Given the description of an element on the screen output the (x, y) to click on. 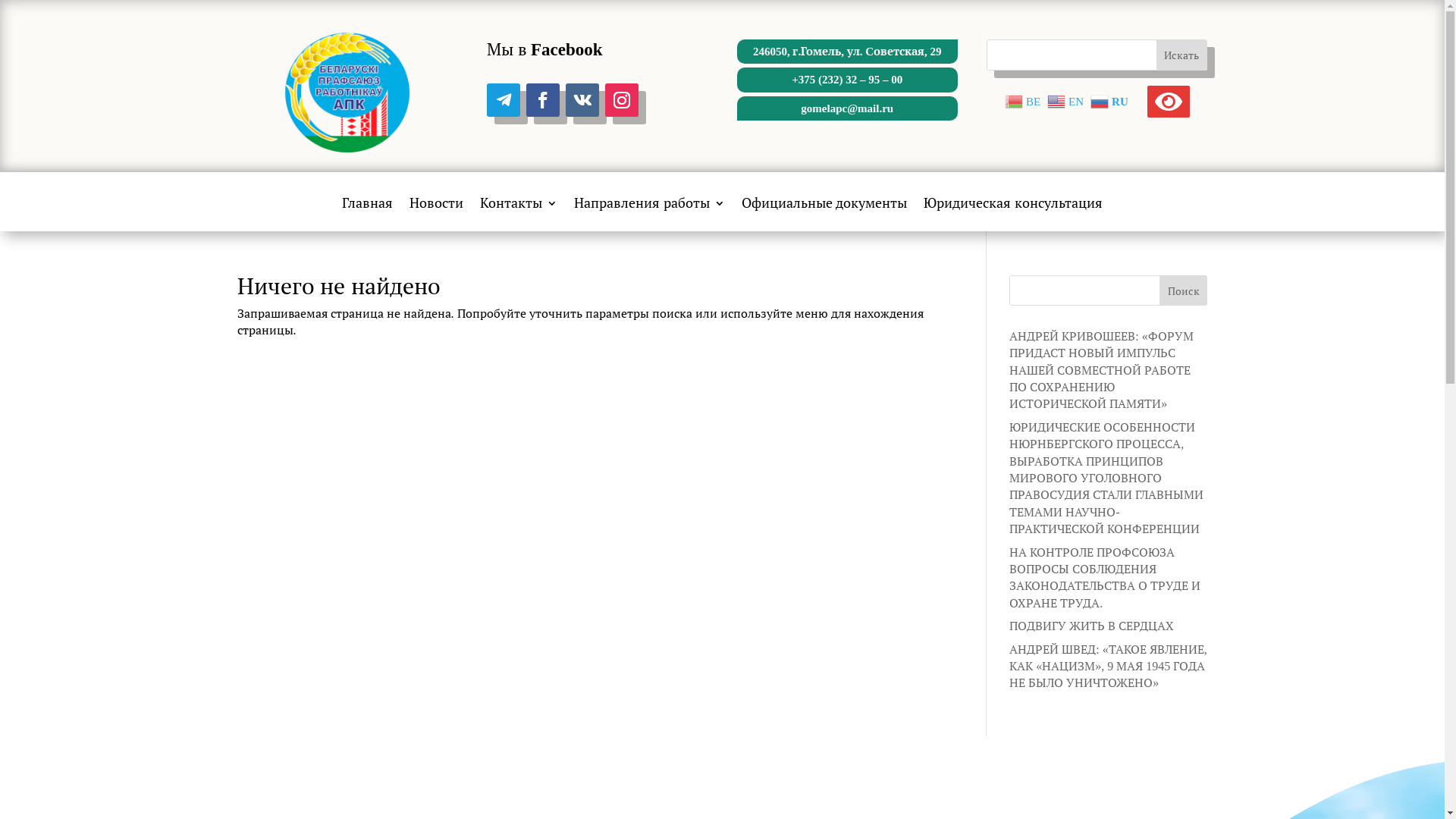
BE Element type: text (1024, 100)
RU Element type: text (1111, 100)
cropped-logo-2.png Element type: hover (347, 90)
EN Element type: text (1067, 100)
